Given the description of an element on the screen output the (x, y) to click on. 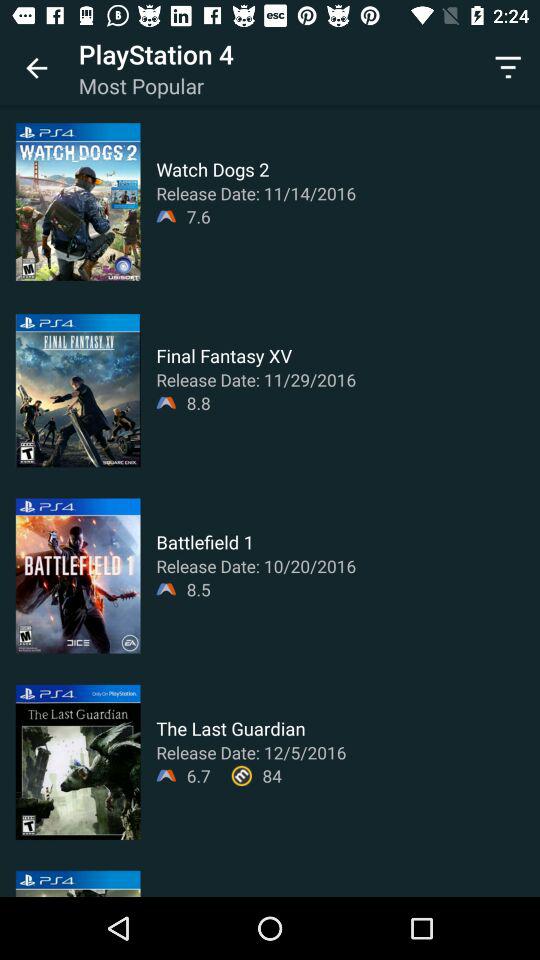
select the app next to playstation 4 (36, 68)
